Given the description of an element on the screen output the (x, y) to click on. 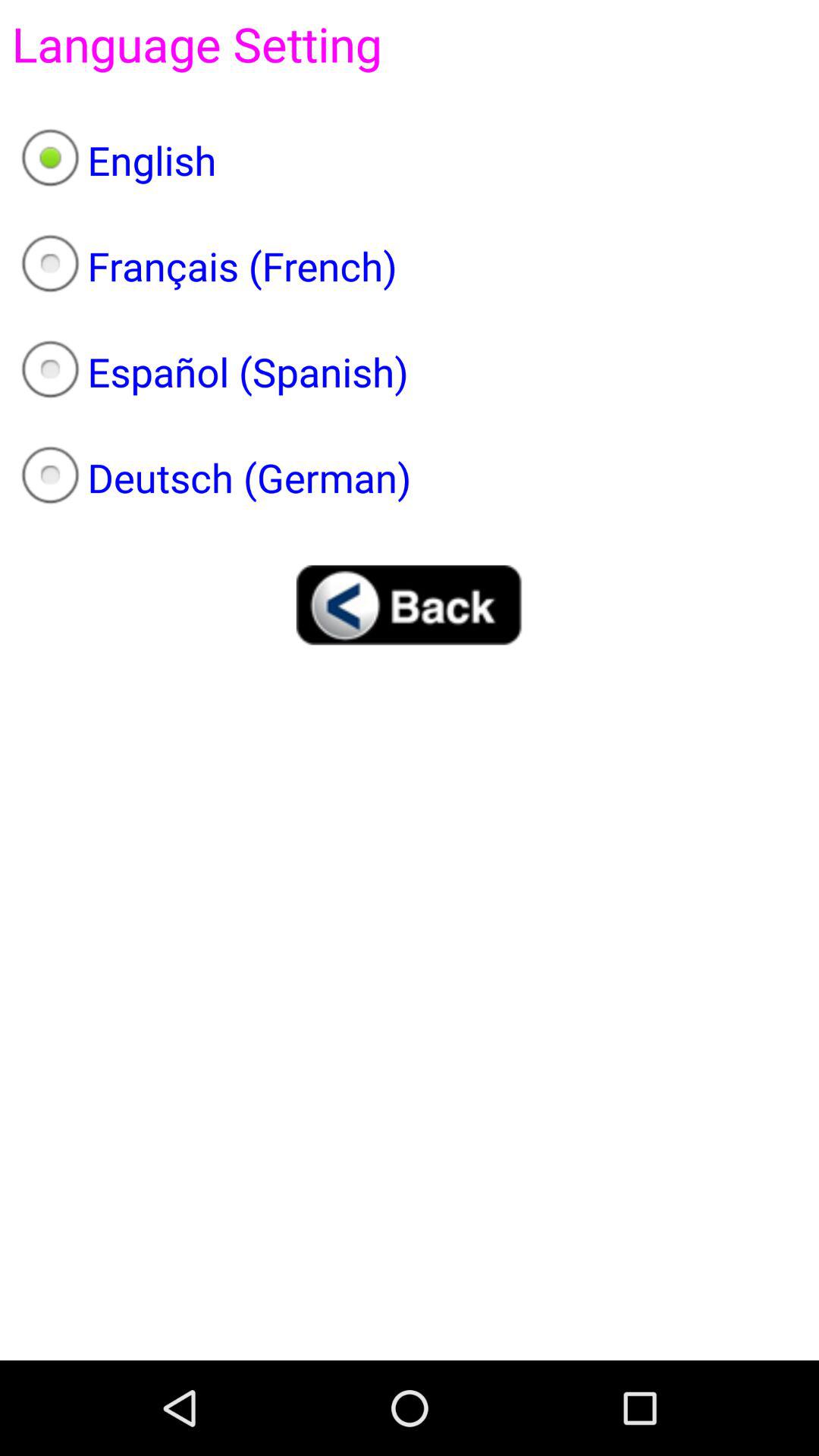
click the icon above deutsch (german) radio button (409, 371)
